Given the description of an element on the screen output the (x, y) to click on. 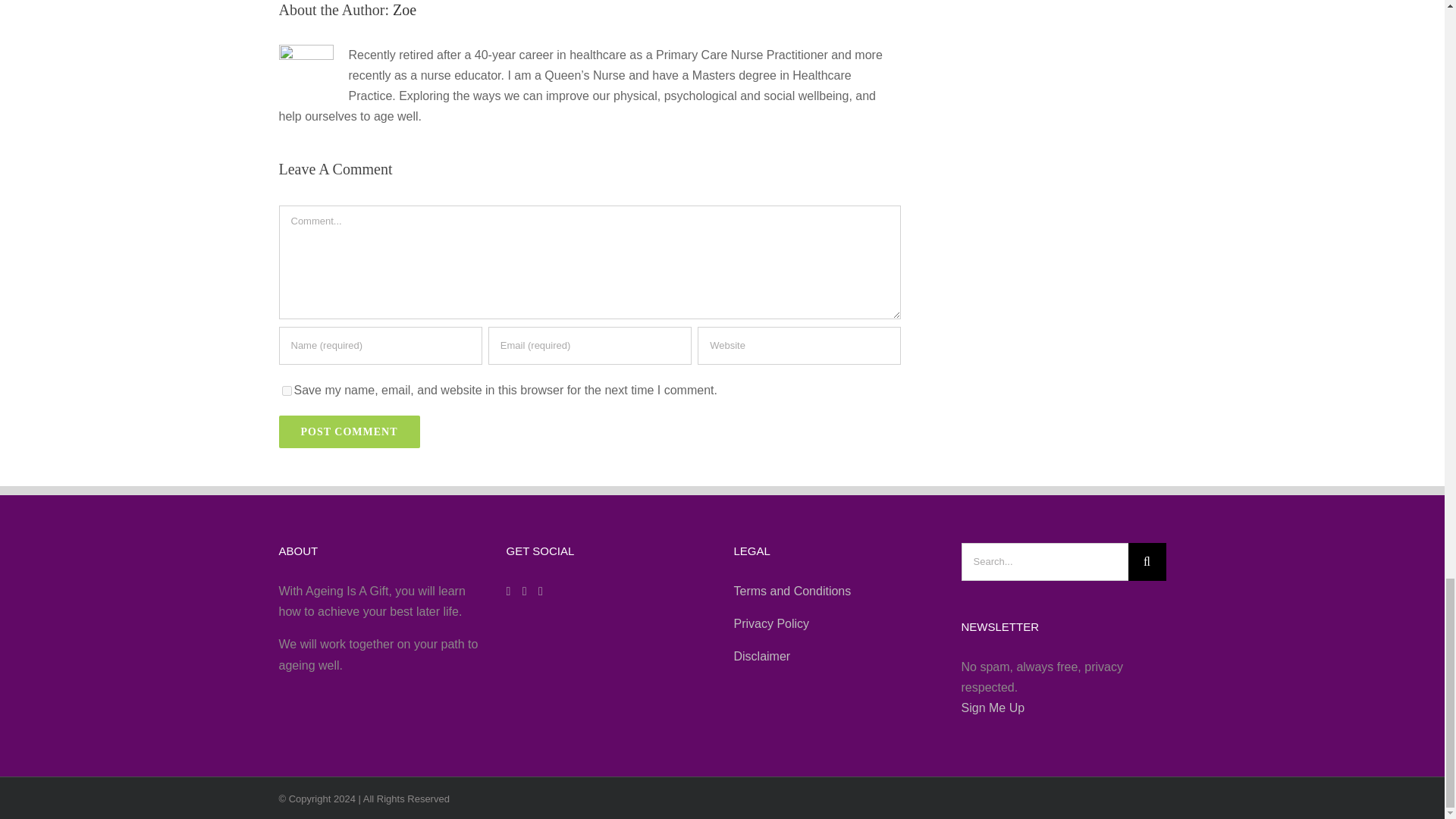
yes (287, 390)
Zoe (404, 9)
Post Comment (349, 431)
Post Comment (349, 431)
Posts by Zoe (404, 9)
